Given the description of an element on the screen output the (x, y) to click on. 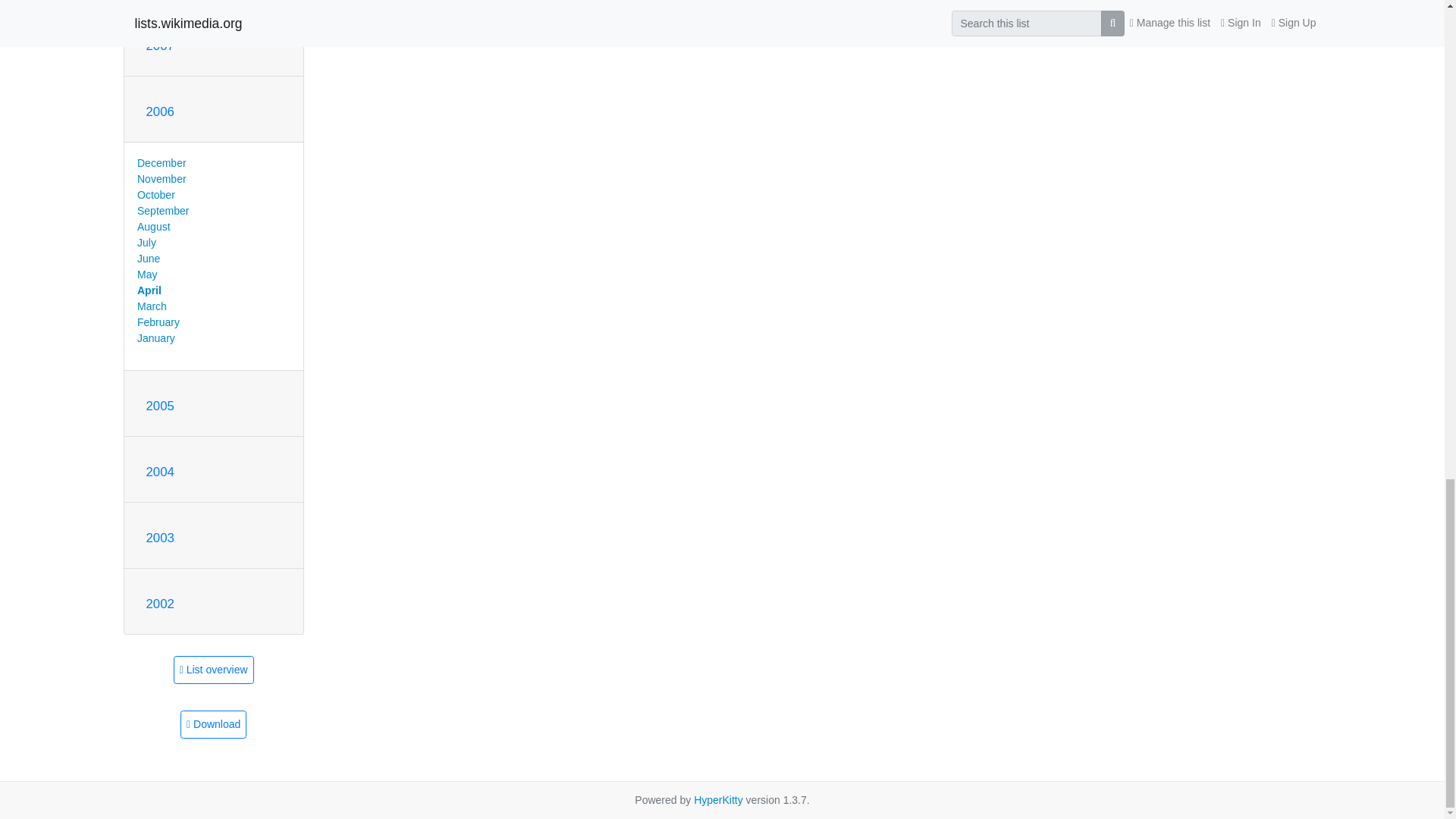
This message in gzipped mbox format (213, 724)
